Given the description of an element on the screen output the (x, y) to click on. 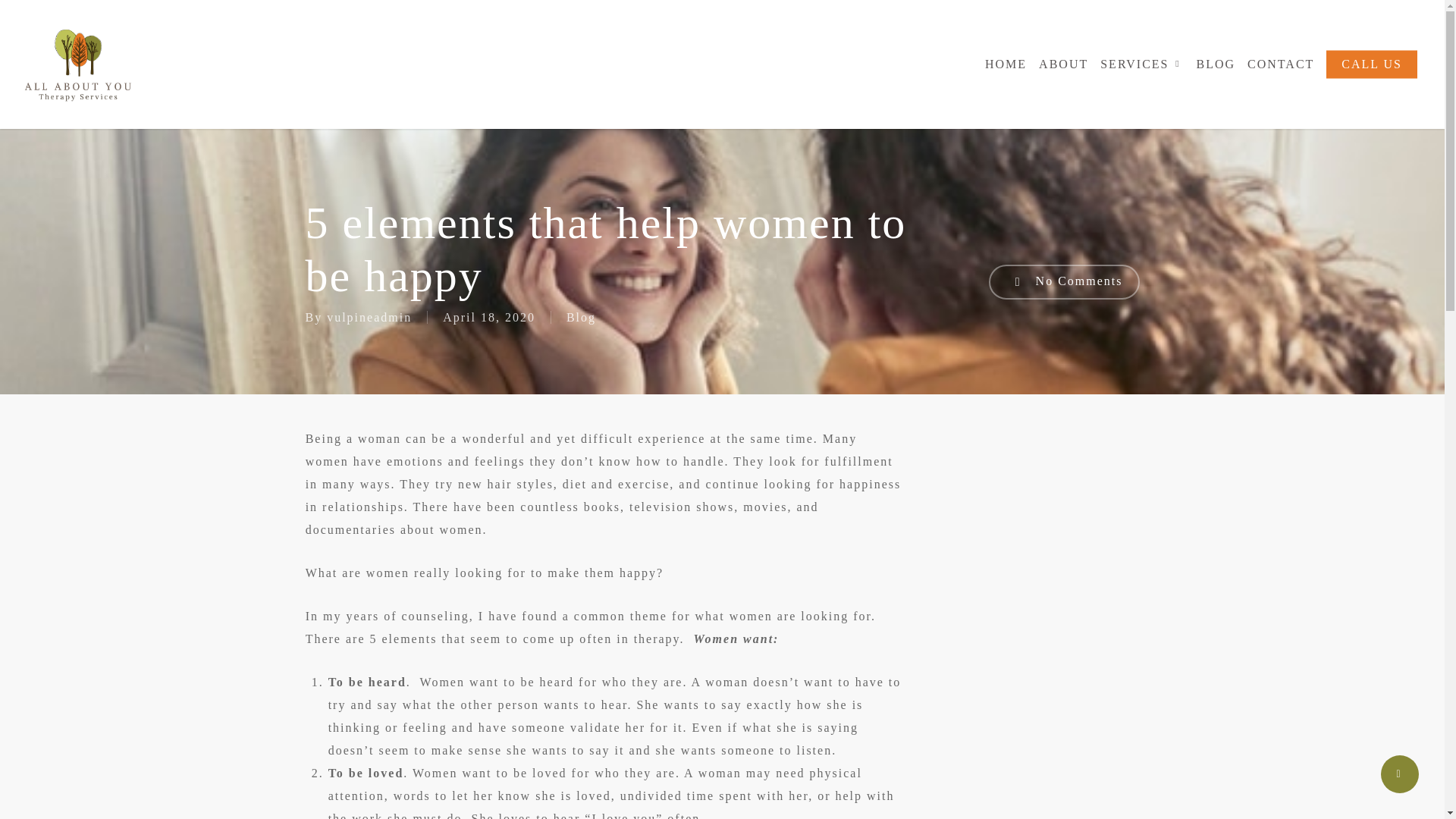
No Comments (1064, 281)
ABOUT (1063, 64)
SERVICES (1141, 64)
HOME (1005, 64)
Posts by vulpineadmin (369, 317)
CALL US (1371, 64)
BLOG (1216, 64)
CONTACT (1280, 64)
vulpineadmin (369, 317)
Blog (580, 317)
